Given the description of an element on the screen output the (x, y) to click on. 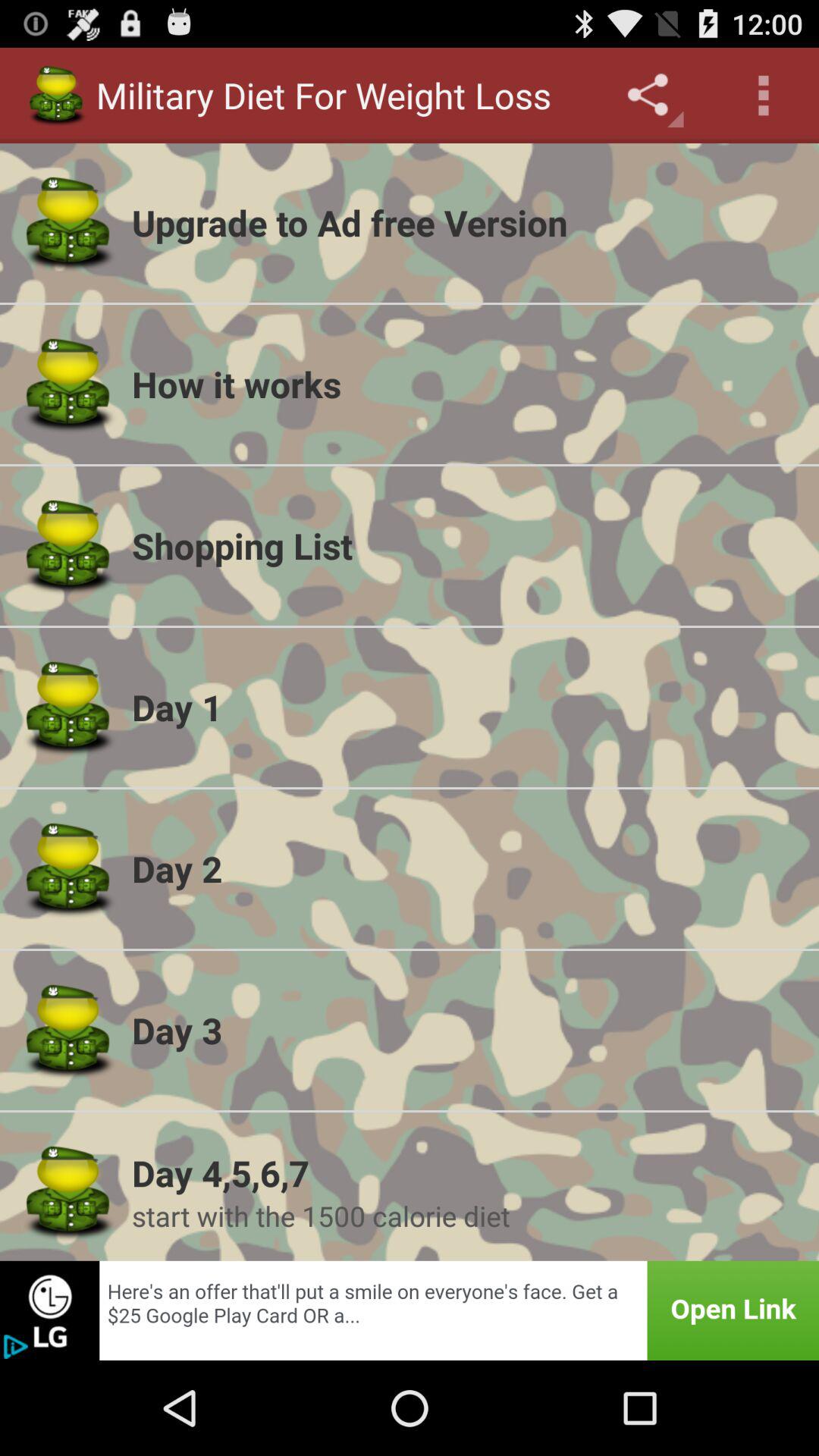
open the day 1 item (465, 707)
